Given the description of an element on the screen output the (x, y) to click on. 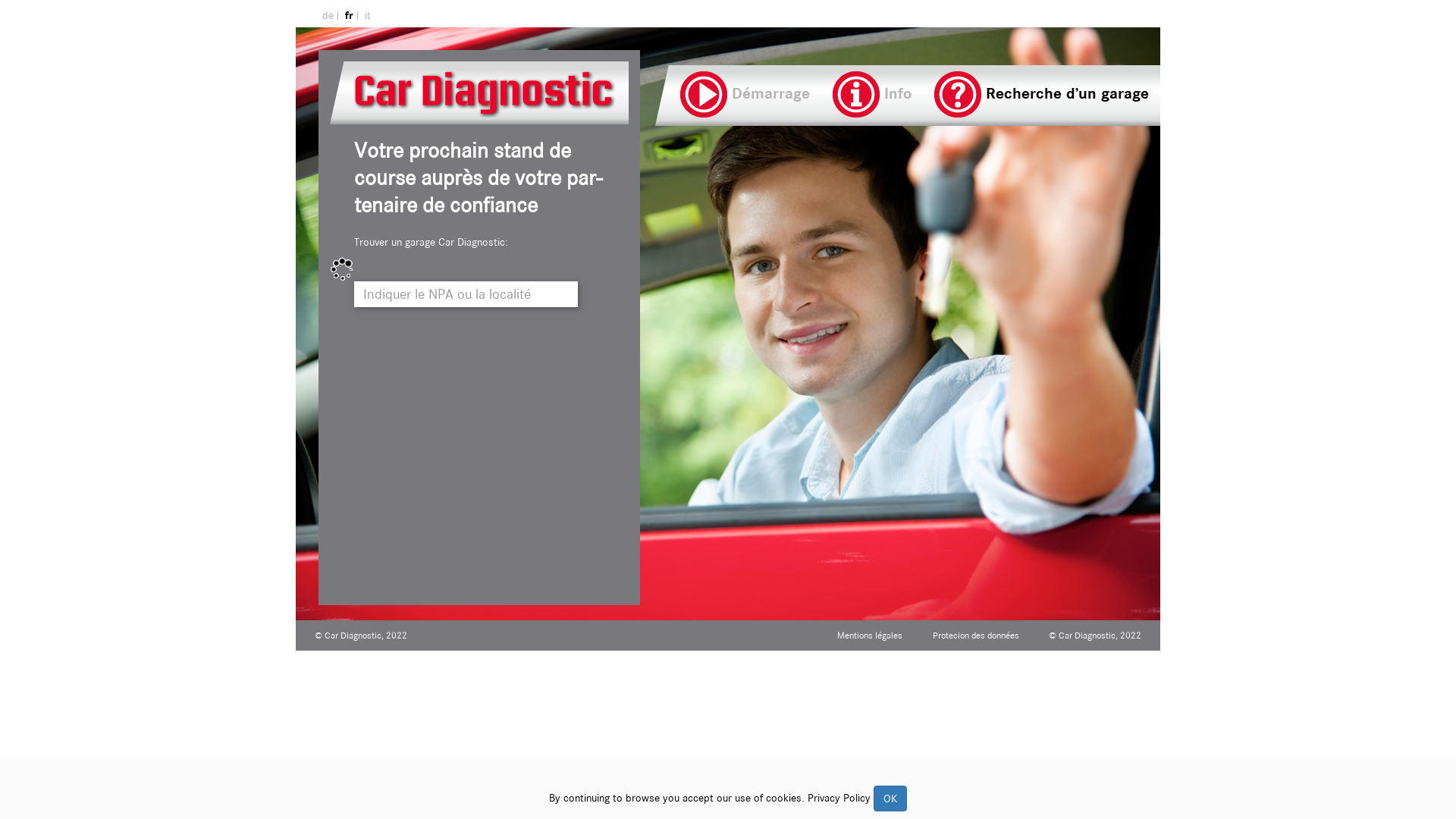
de Element type: text (328, 15)
fr Element type: text (349, 15)
it Element type: text (365, 15)
Info Element type: text (871, 91)
OK Element type: text (889, 798)
